Given the description of an element on the screen output the (x, y) to click on. 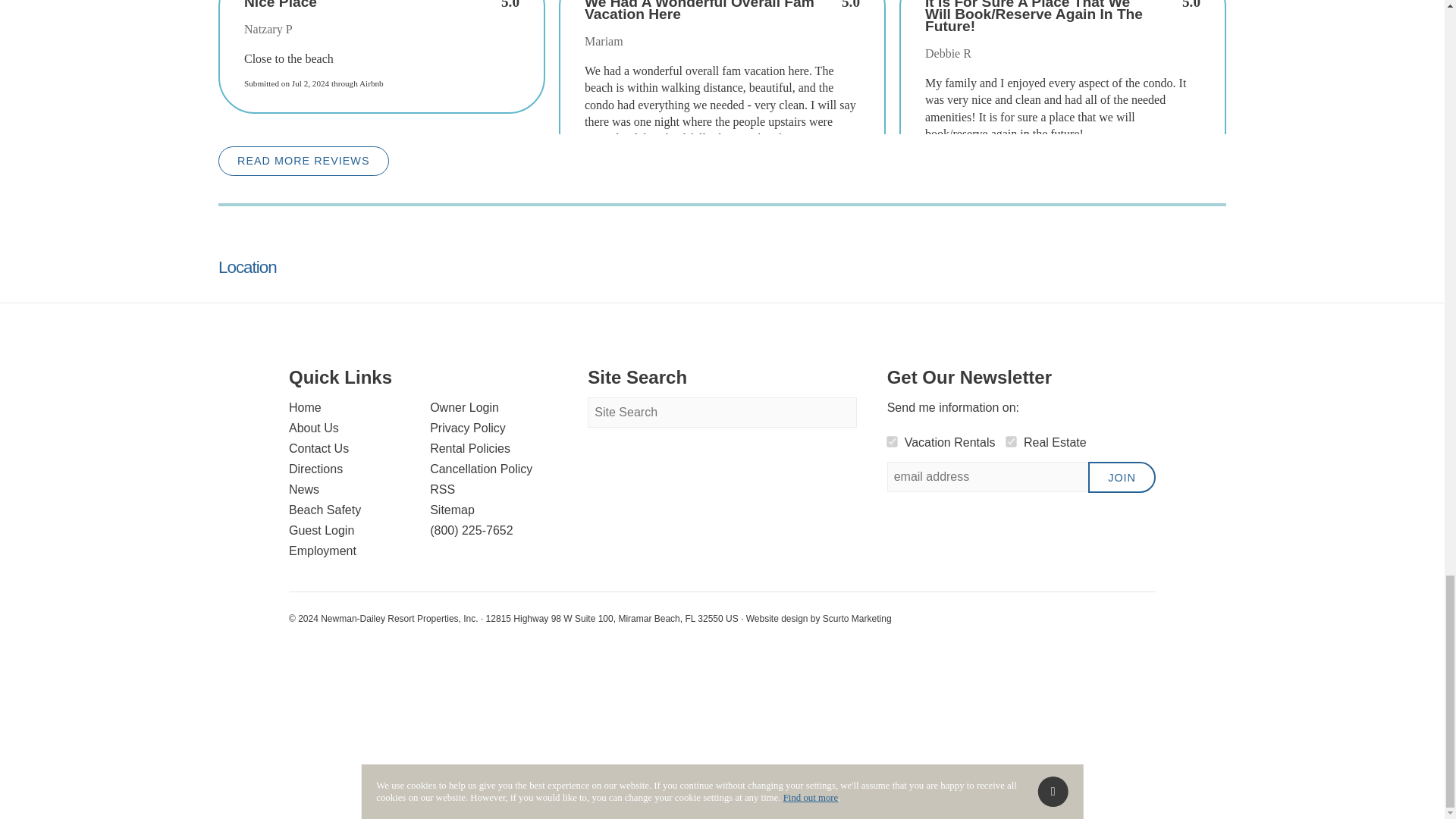
on (1010, 440)
on (891, 440)
